Given the description of an element on the screen output the (x, y) to click on. 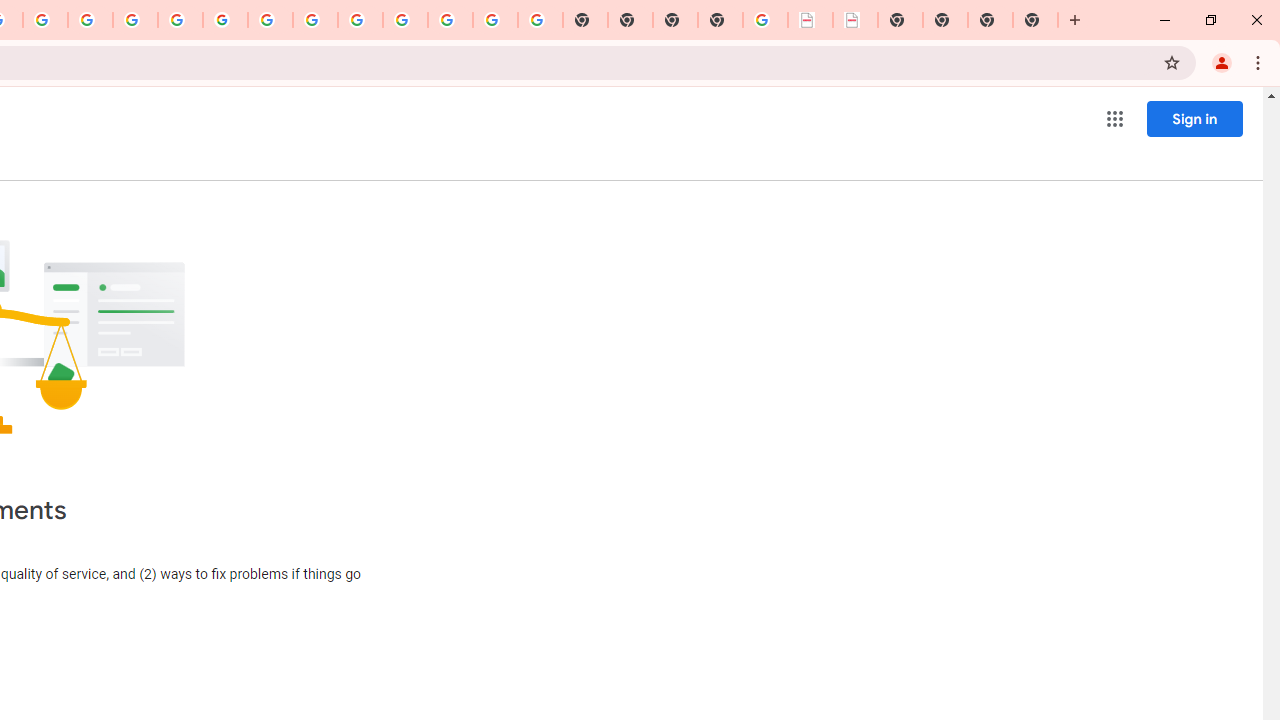
LAAD Defence & Security 2025 | BAE Systems (810, 20)
New Tab (720, 20)
Privacy Help Center - Policies Help (134, 20)
New Tab (1035, 20)
BAE Systems Brasil | BAE Systems (855, 20)
